Given the description of an element on the screen output the (x, y) to click on. 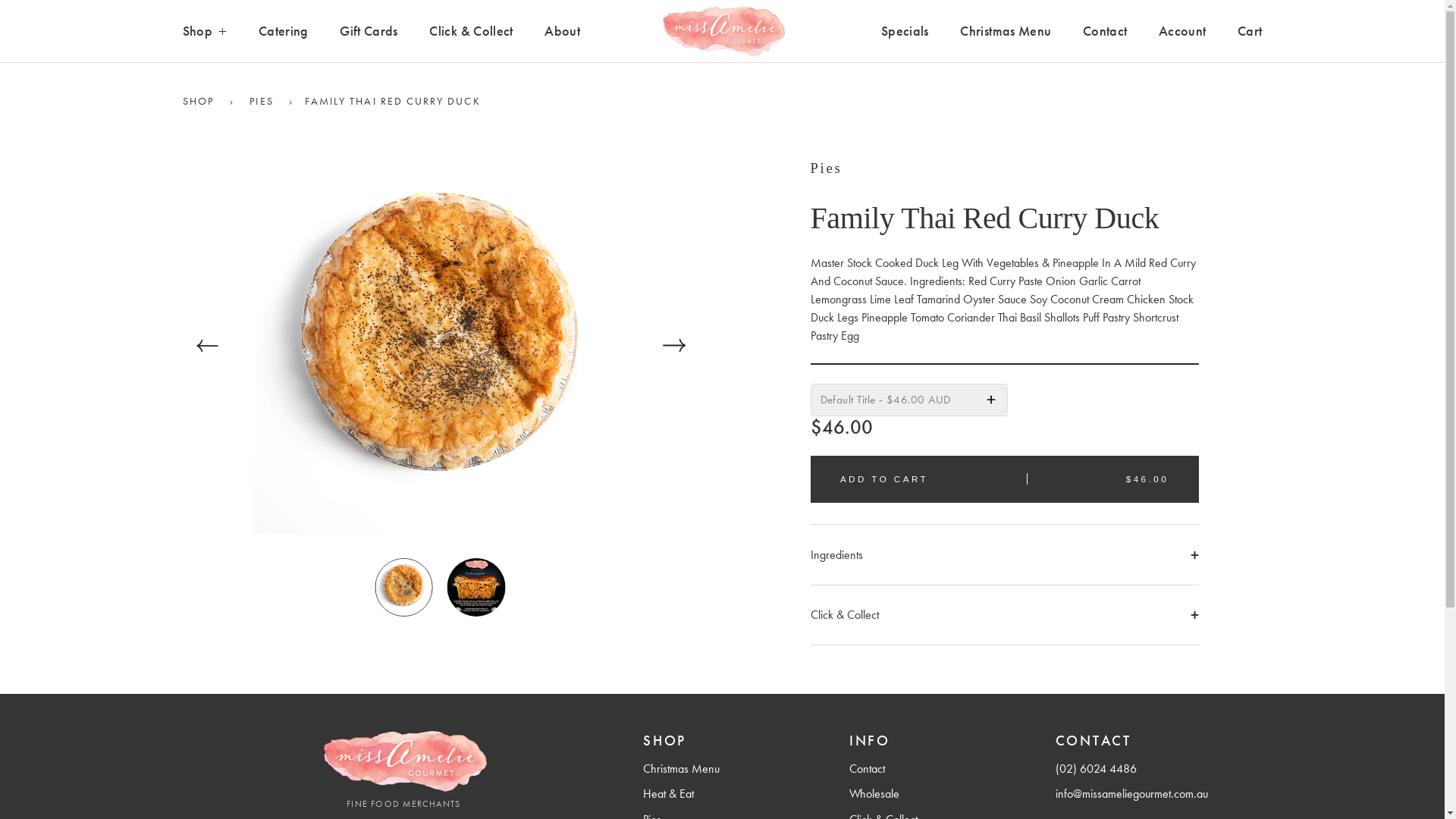
Contact Element type: text (866, 768)
Specials Element type: text (904, 31)
Ingredients Element type: text (1003, 554)
Contact Element type: text (1104, 31)
Wholesale Element type: text (874, 793)
Account Element type: text (1181, 31)
Click & Collect Element type: text (470, 31)
Heat & Eat Element type: text (668, 793)
Shop Element type: text (204, 31)
Cart Element type: text (1249, 31)
Christmas Menu Element type: text (681, 768)
Gift Cards Element type: text (368, 31)
(02) 6024 4486 Element type: text (1095, 768)
Click & Collect Element type: text (1003, 614)
Catering Element type: text (283, 31)
ADD TO CART
$46.00 Element type: text (1003, 478)
PIES Element type: text (261, 101)
info@missameliegourmet.com.au Element type: text (1131, 793)
About Element type: text (562, 31)
Christmas Menu Element type: text (1005, 31)
SHOP Element type: text (197, 101)
